Given the description of an element on the screen output the (x, y) to click on. 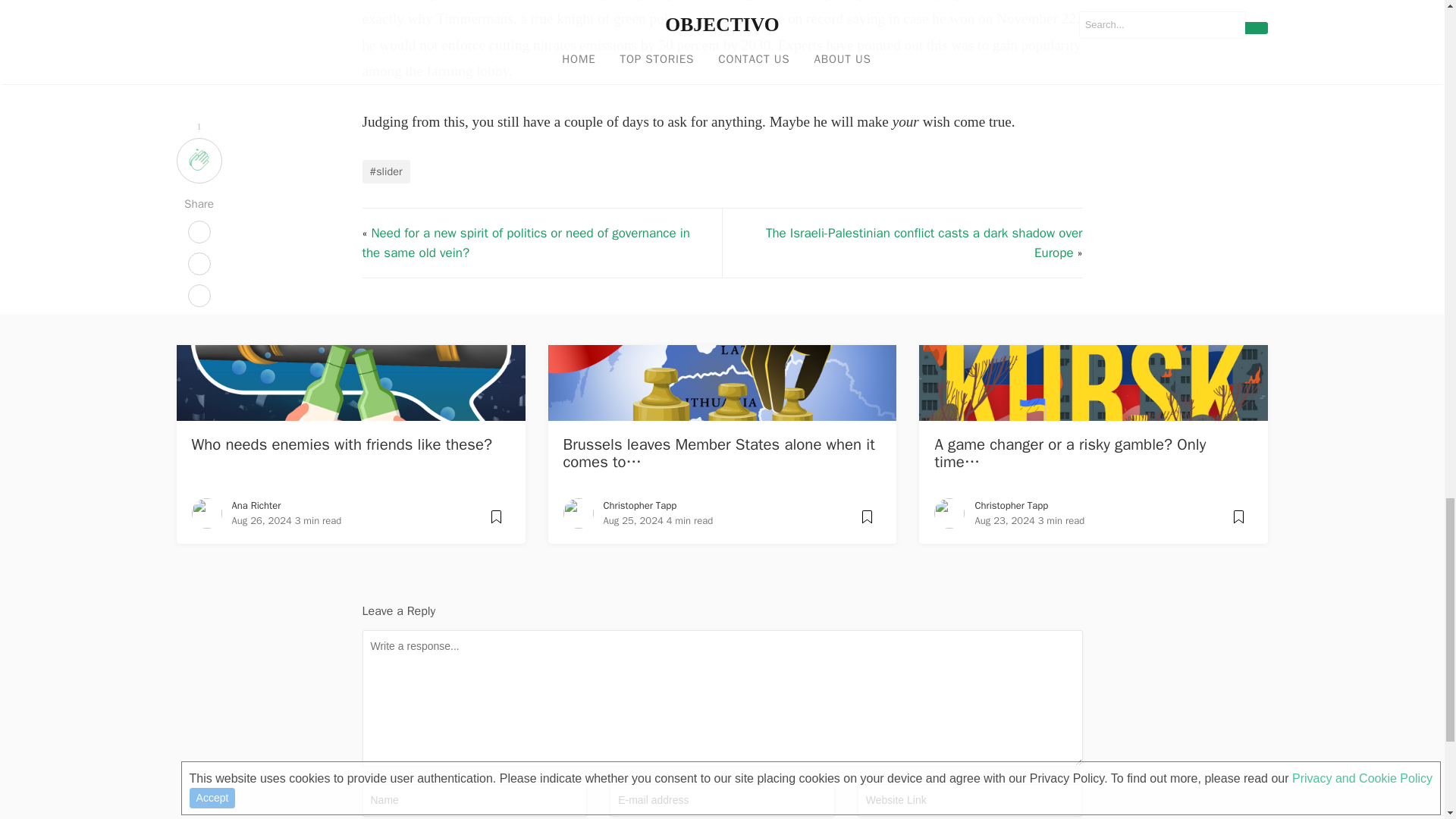
Christopher Tapp (1011, 504)
Who needs enemies with friends like these? (342, 444)
Ana Richter (256, 504)
Christopher Tapp (640, 504)
